Given the description of an element on the screen output the (x, y) to click on. 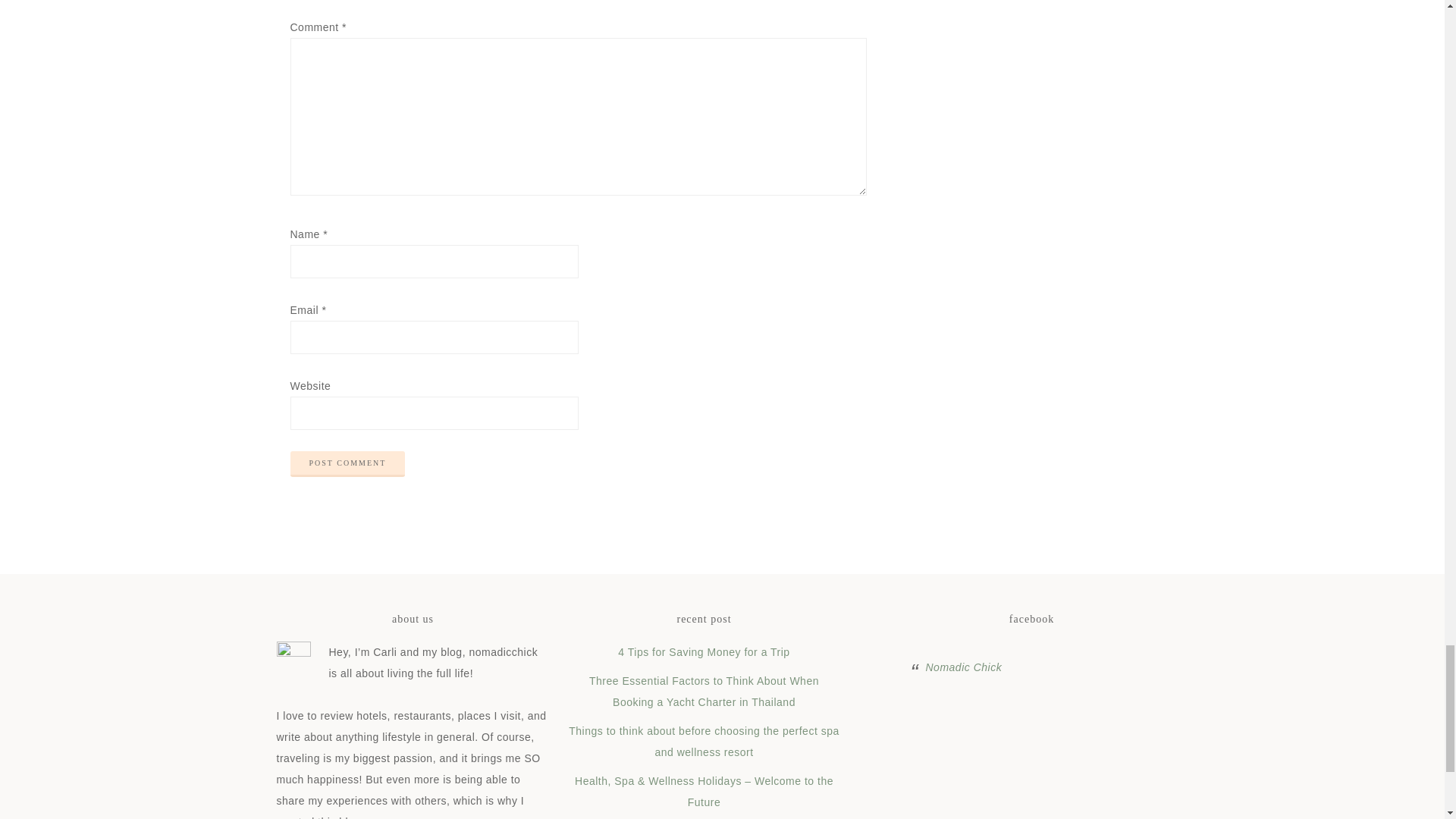
4 Tips for Saving Money for a Trip (703, 652)
Post Comment (346, 463)
Post Comment (346, 463)
